Given the description of an element on the screen output the (x, y) to click on. 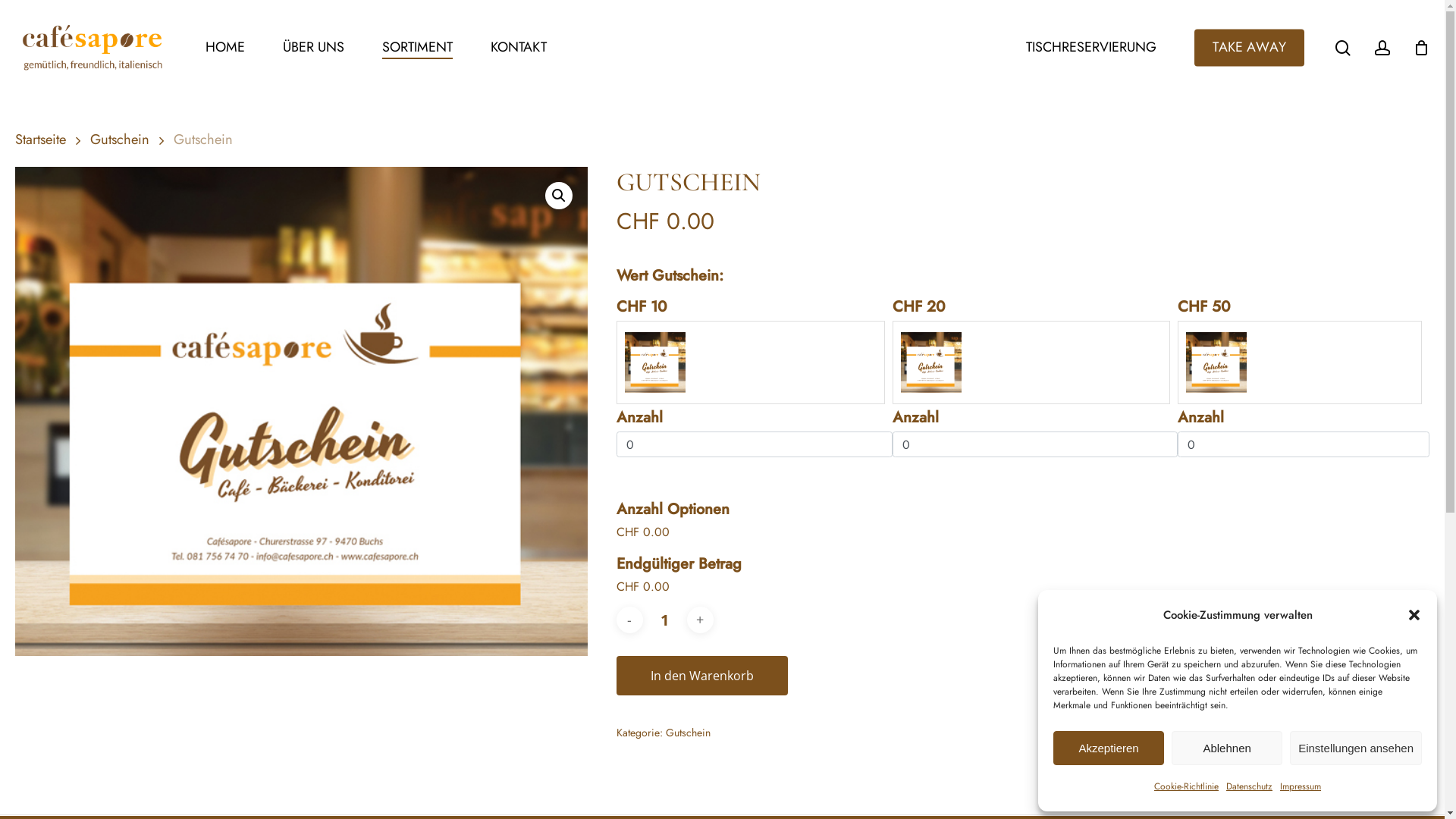
TAKE AWAY Element type: text (1249, 46)
Gutschein Element type: text (119, 139)
Ablehnen Element type: text (1226, 748)
HOME Element type: text (224, 46)
TISCHRESERVIERUNG Element type: text (1091, 46)
KONTAKT Element type: text (518, 46)
account Element type: text (1382, 47)
search Element type: text (1342, 47)
Akzeptieren Element type: text (1108, 748)
Startseite Element type: text (40, 139)
gutschein Element type: hover (301, 410)
Impressum Element type: text (1300, 786)
In den Warenkorb Element type: text (701, 675)
Datenschutz Element type: text (1249, 786)
Cookie-Richtlinie Element type: text (1186, 786)
Einstellungen ansehen Element type: text (1355, 748)
SORTIMENT Element type: text (417, 46)
Gutschein Element type: text (687, 732)
